Given the description of an element on the screen output the (x, y) to click on. 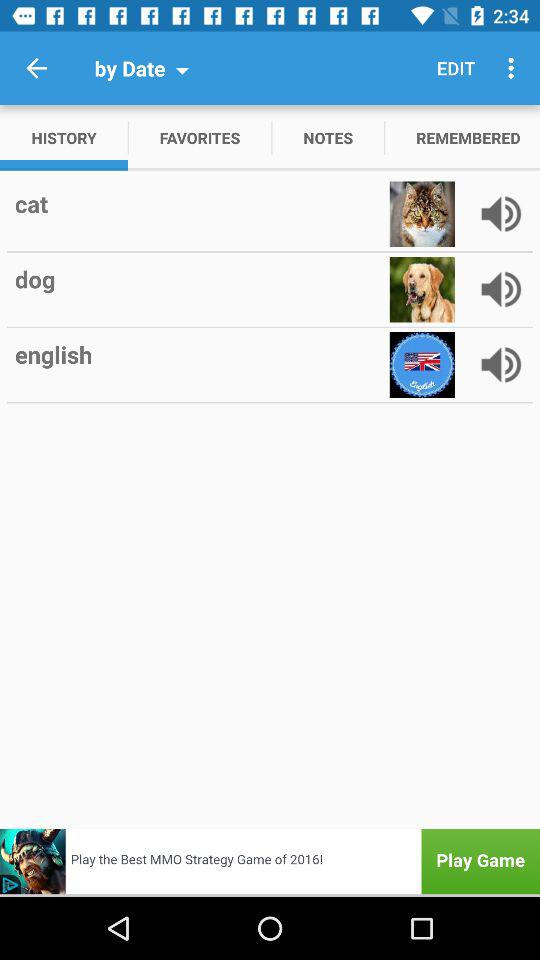
turn off item below the remembered (464, 214)
